Given the description of an element on the screen output the (x, y) to click on. 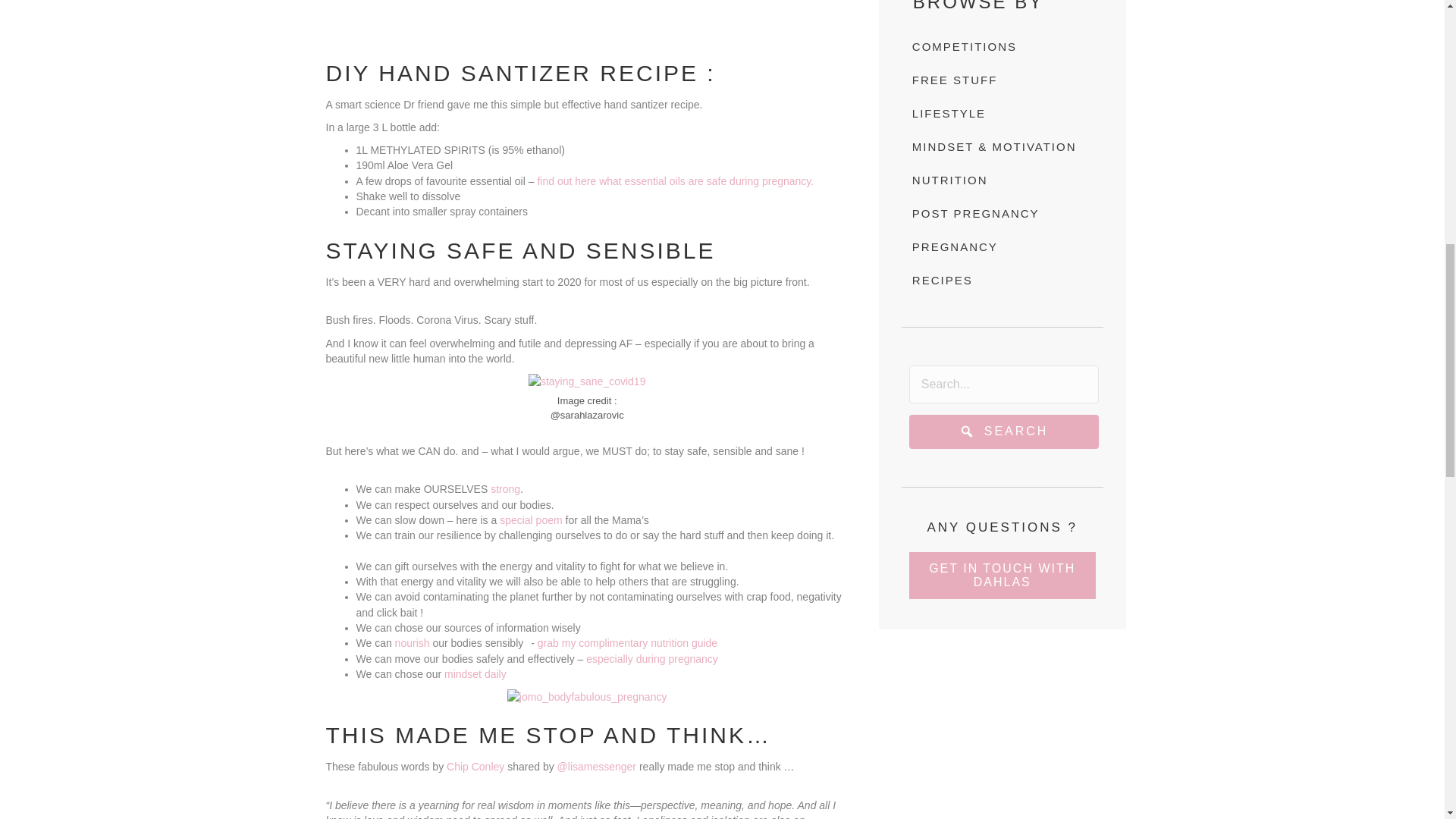
strong (504, 489)
Chip Conley (476, 766)
special poem (530, 520)
mindset daily (475, 674)
find out here what essential oils are safe during pregnancy. (675, 181)
especially during pregnancy (651, 657)
nourish (411, 643)
grab my complimentary nutrition guide (627, 643)
